Given the description of an element on the screen output the (x, y) to click on. 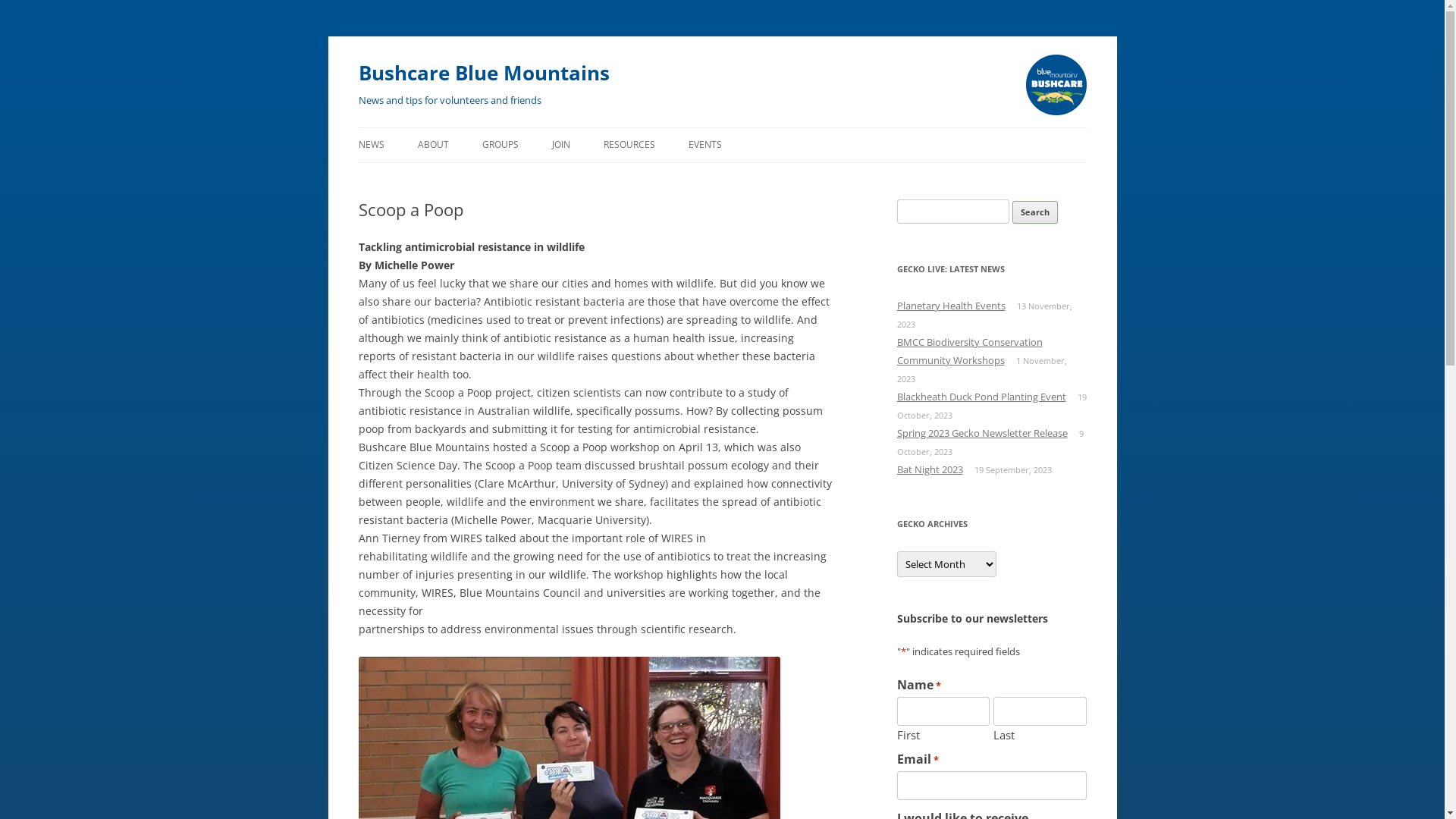
Blackheath Duck Pond Planting Event Element type: text (980, 396)
Bat Night 2023 Element type: text (929, 469)
BMCC Biodiversity Conservation Community Workshops Element type: text (968, 351)
Search Element type: text (1034, 211)
RESOURCES Element type: text (629, 144)
Spring 2023 Gecko Newsletter Release Element type: text (981, 432)
GROUPS Element type: text (500, 144)
EVENTS Element type: text (704, 144)
BUSHCARE MANUAL Element type: text (679, 177)
NEWS Element type: text (370, 144)
Planetary Health Events Element type: text (950, 305)
SWAMPCARE Element type: text (492, 177)
Bushcare Blue Mountains Element type: text (482, 72)
ABOUT Element type: text (432, 144)
Skip to content Element type: text (357, 145)
JOIN Element type: text (561, 144)
